Given the description of an element on the screen output the (x, y) to click on. 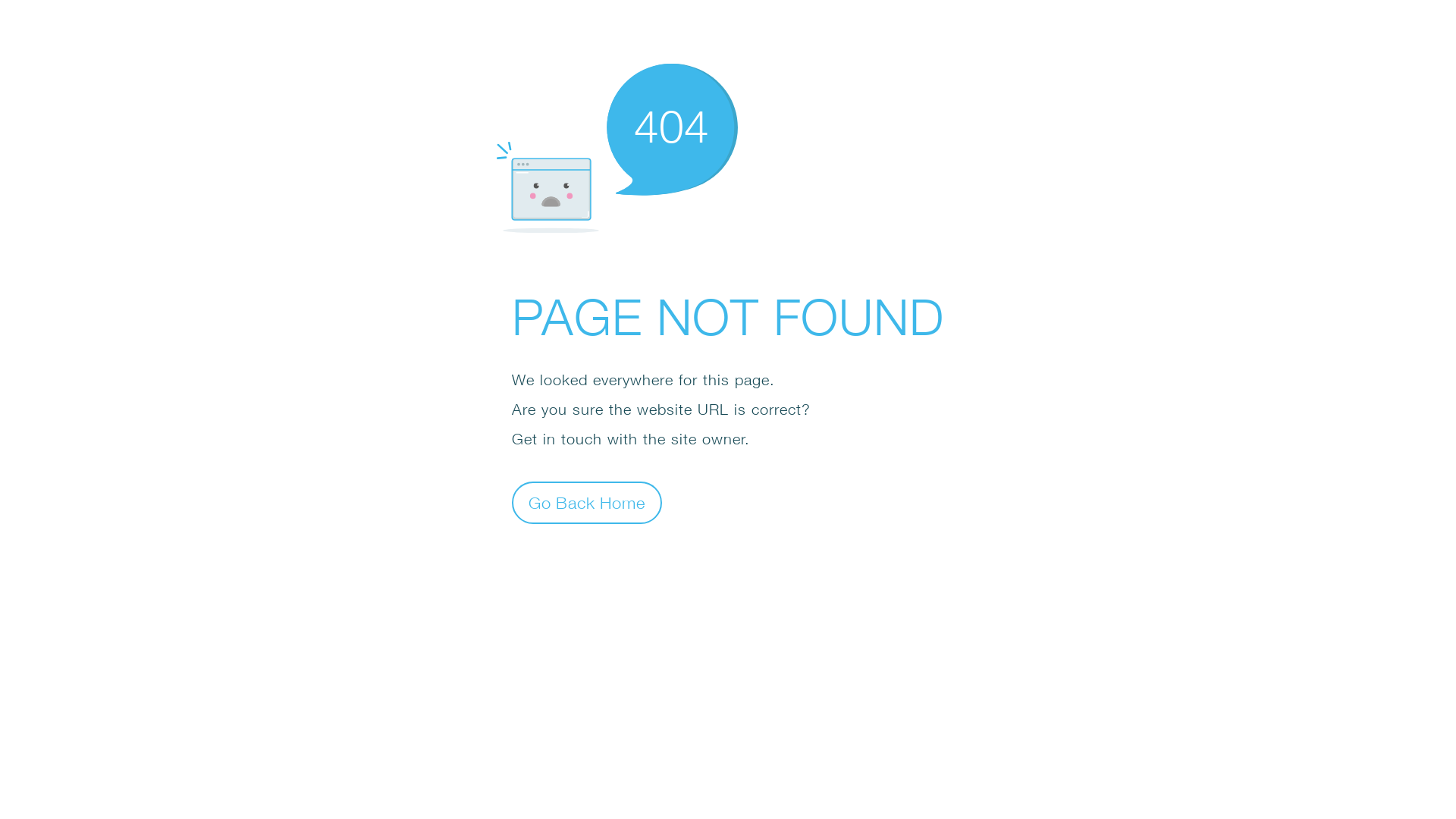
Go Back Home Element type: text (586, 502)
